Given the description of an element on the screen output the (x, y) to click on. 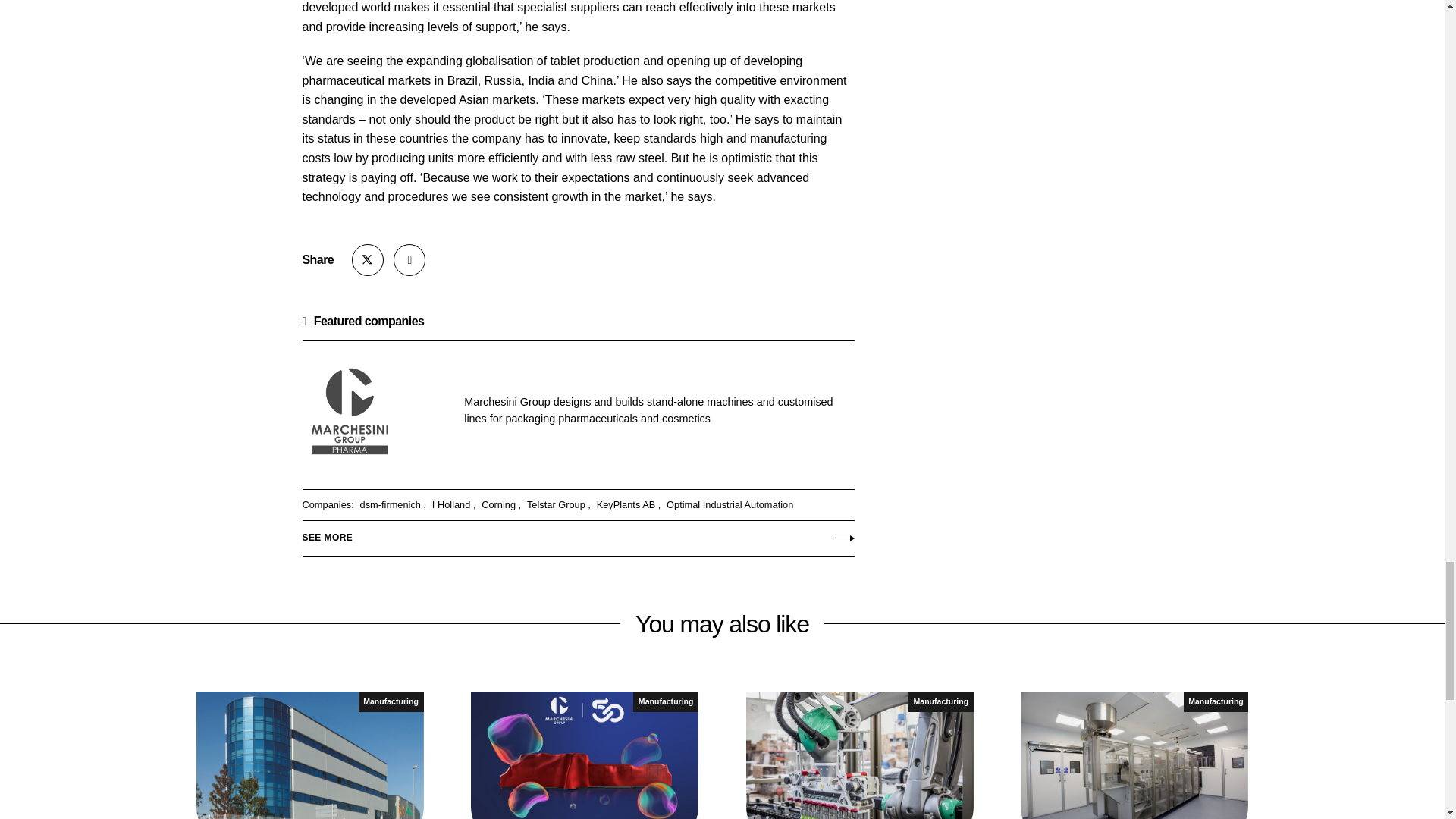
Follow Manufacturing Chemist on LinkedIn (409, 260)
X (368, 260)
SEE MORE (577, 534)
Follow Manufacturing Chemist on X (368, 260)
LinkedIn (409, 260)
